Given the description of an element on the screen output the (x, y) to click on. 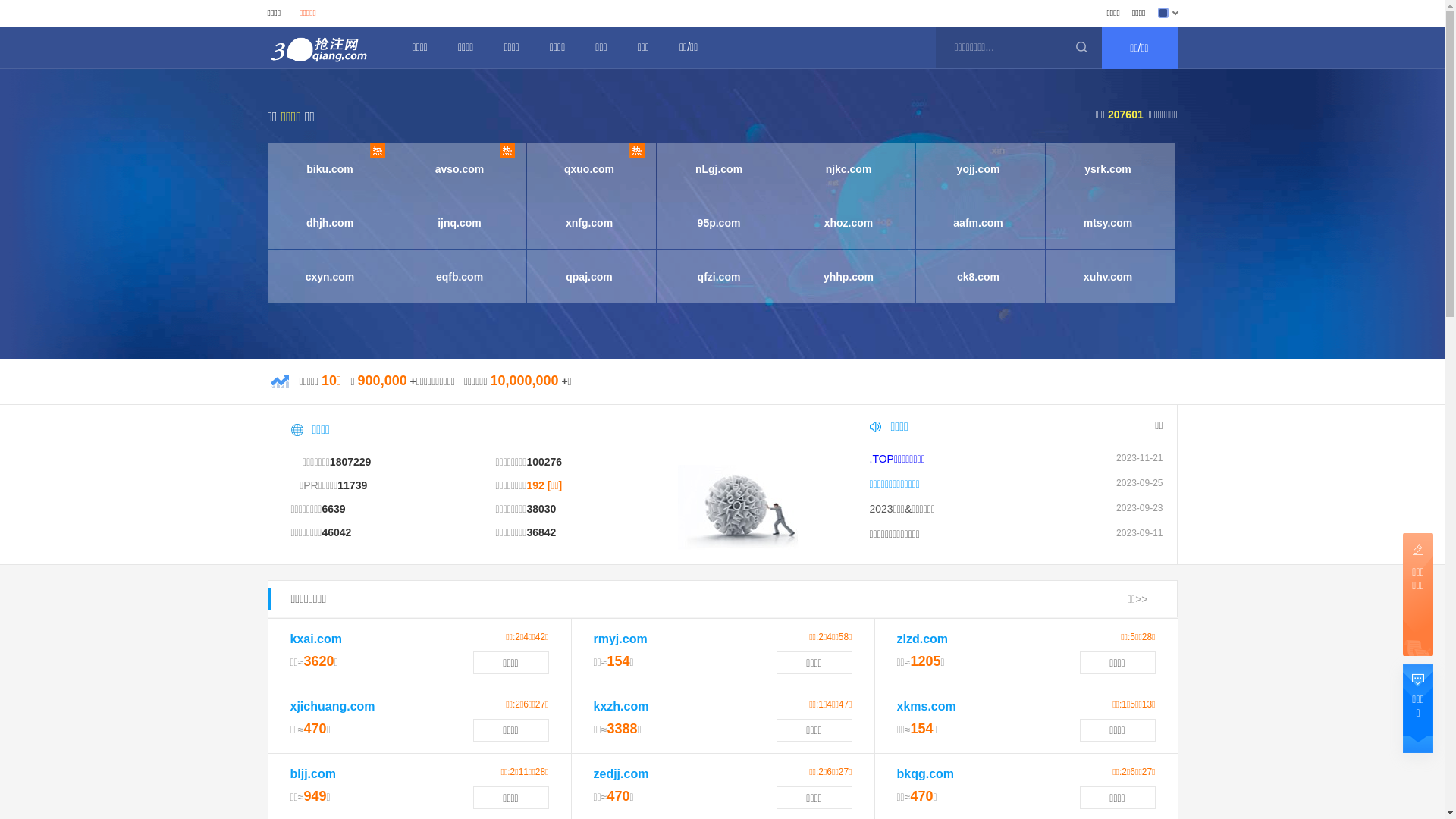
38030 Element type: text (540, 508)
aafm.com Element type: text (978, 222)
mtsy.com Element type: text (1107, 222)
xhoz.com Element type: text (848, 222)
biku.com Element type: text (329, 168)
dhjh.com Element type: text (329, 222)
ijnq.com Element type: text (459, 222)
6639 Element type: text (333, 508)
njkc.com Element type: text (848, 168)
ysrk.com Element type: text (1107, 168)
yojj.com Element type: text (978, 168)
cxyn.com Element type: text (329, 276)
avso.com Element type: text (459, 168)
qxuo.com Element type: text (588, 168)
1807229 Element type: text (350, 461)
xnfg.com Element type: text (588, 222)
xuhv.com Element type: text (1107, 276)
11739 Element type: text (352, 485)
eqfb.com Element type: text (459, 276)
95p.com Element type: text (719, 222)
qfzi.com Element type: text (719, 276)
36842 Element type: text (540, 532)
100276 Element type: text (543, 461)
nLgj.com Element type: text (719, 168)
46042 Element type: text (336, 532)
yhhp.com Element type: text (848, 276)
ck8.com Element type: text (978, 276)
qpaj.com Element type: text (588, 276)
